Given the description of an element on the screen output the (x, y) to click on. 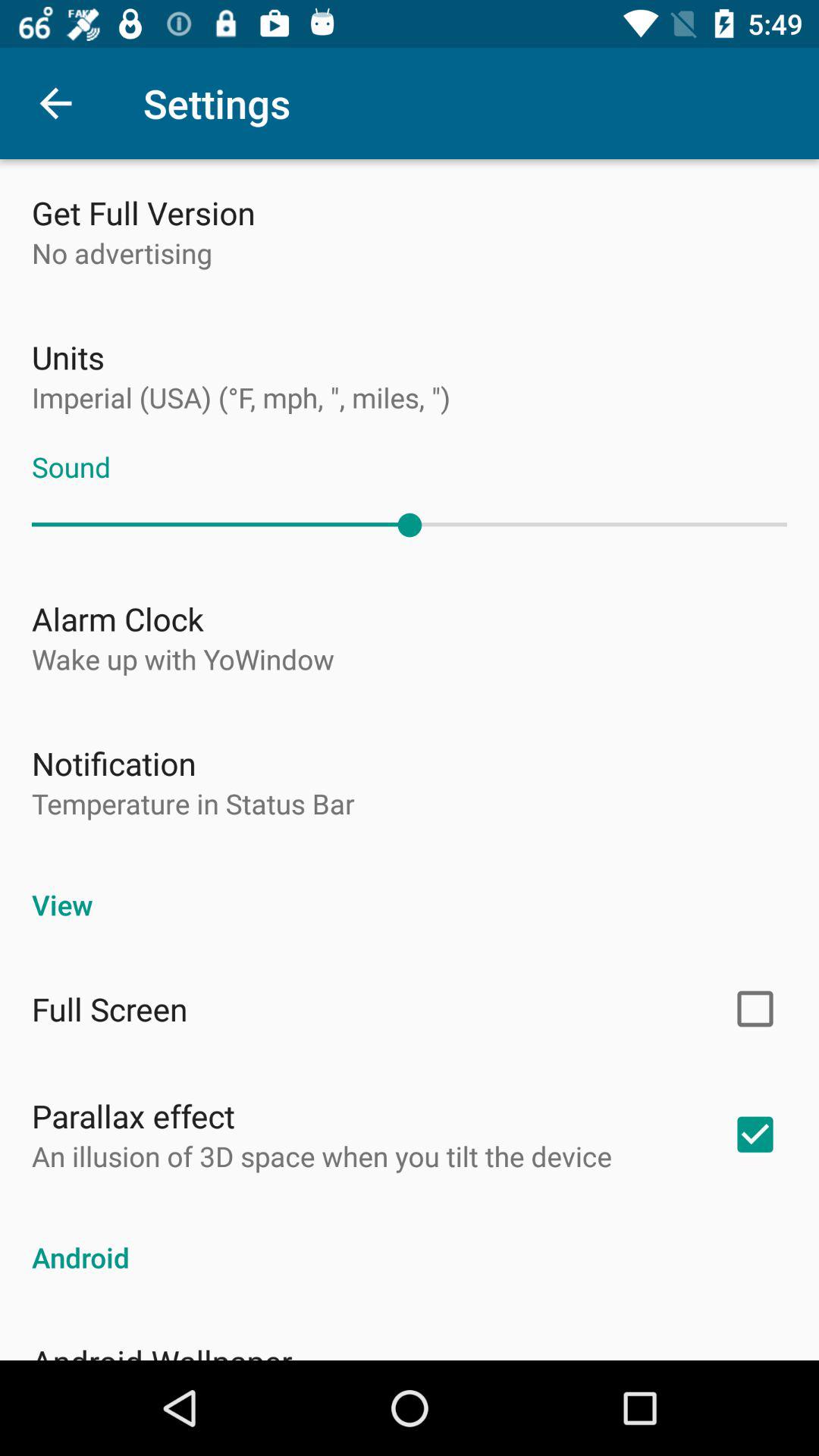
tap the item next to the settings (55, 103)
